Given the description of an element on the screen output the (x, y) to click on. 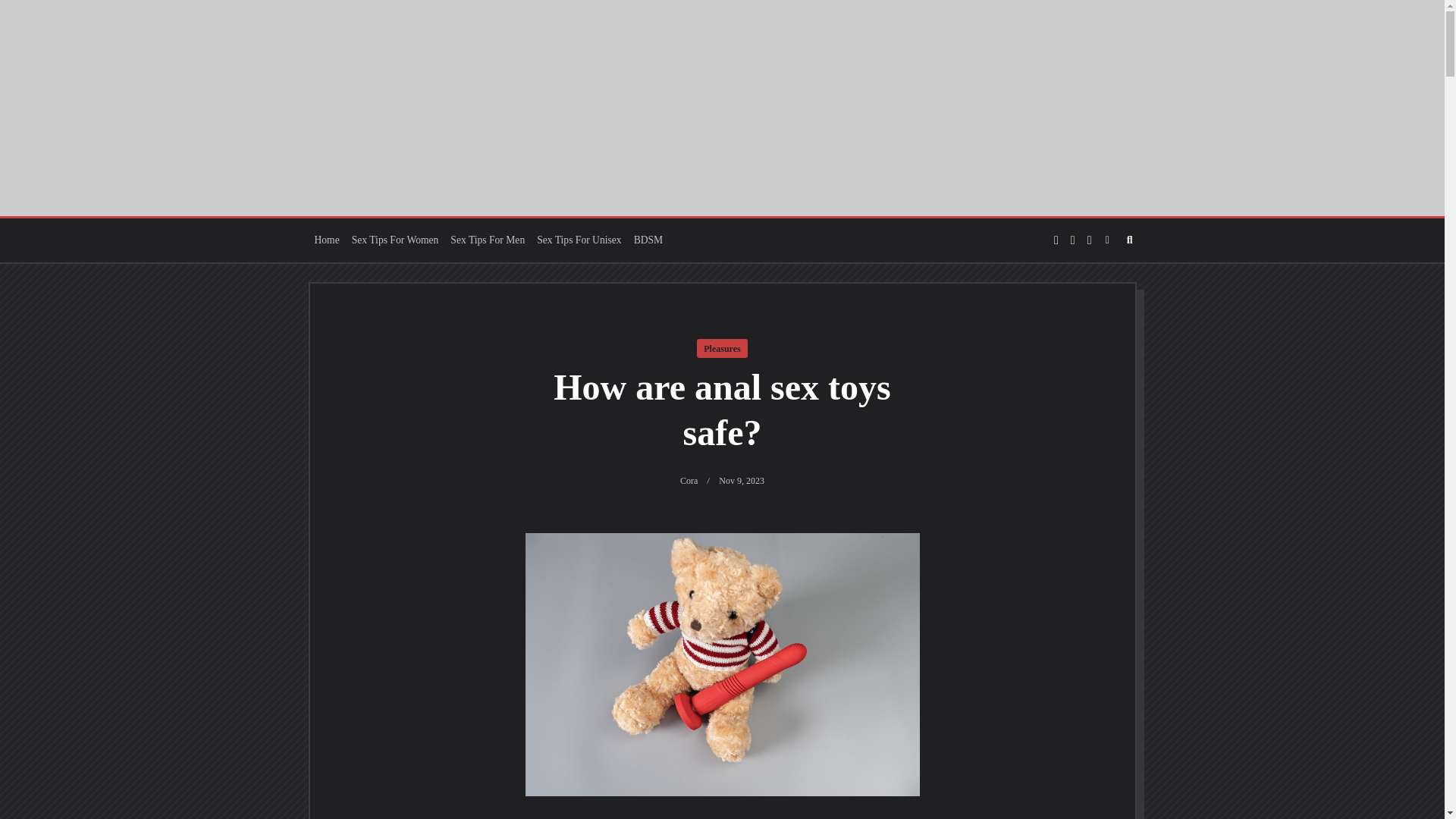
BDSM (648, 239)
Sex Tips For Men (487, 239)
Pleasures (721, 348)
Sex Tips For Women (395, 239)
Cora (688, 480)
Sex Tips For Unisex (579, 239)
Home (326, 239)
Nov 9, 2023 (741, 480)
